Given the description of an element on the screen output the (x, y) to click on. 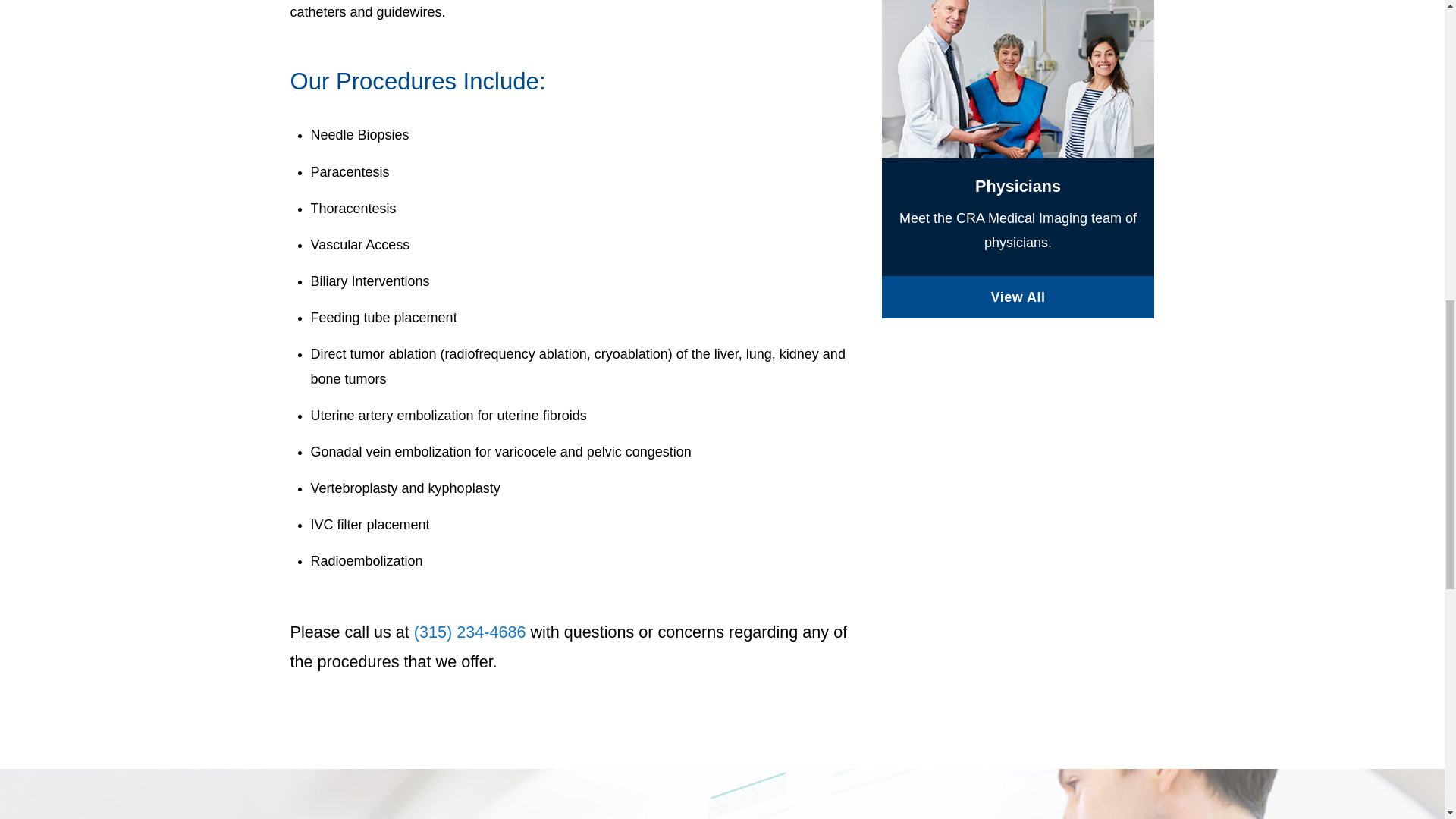
Physicians (1017, 79)
Physicians (1017, 297)
